Given the description of an element on the screen output the (x, y) to click on. 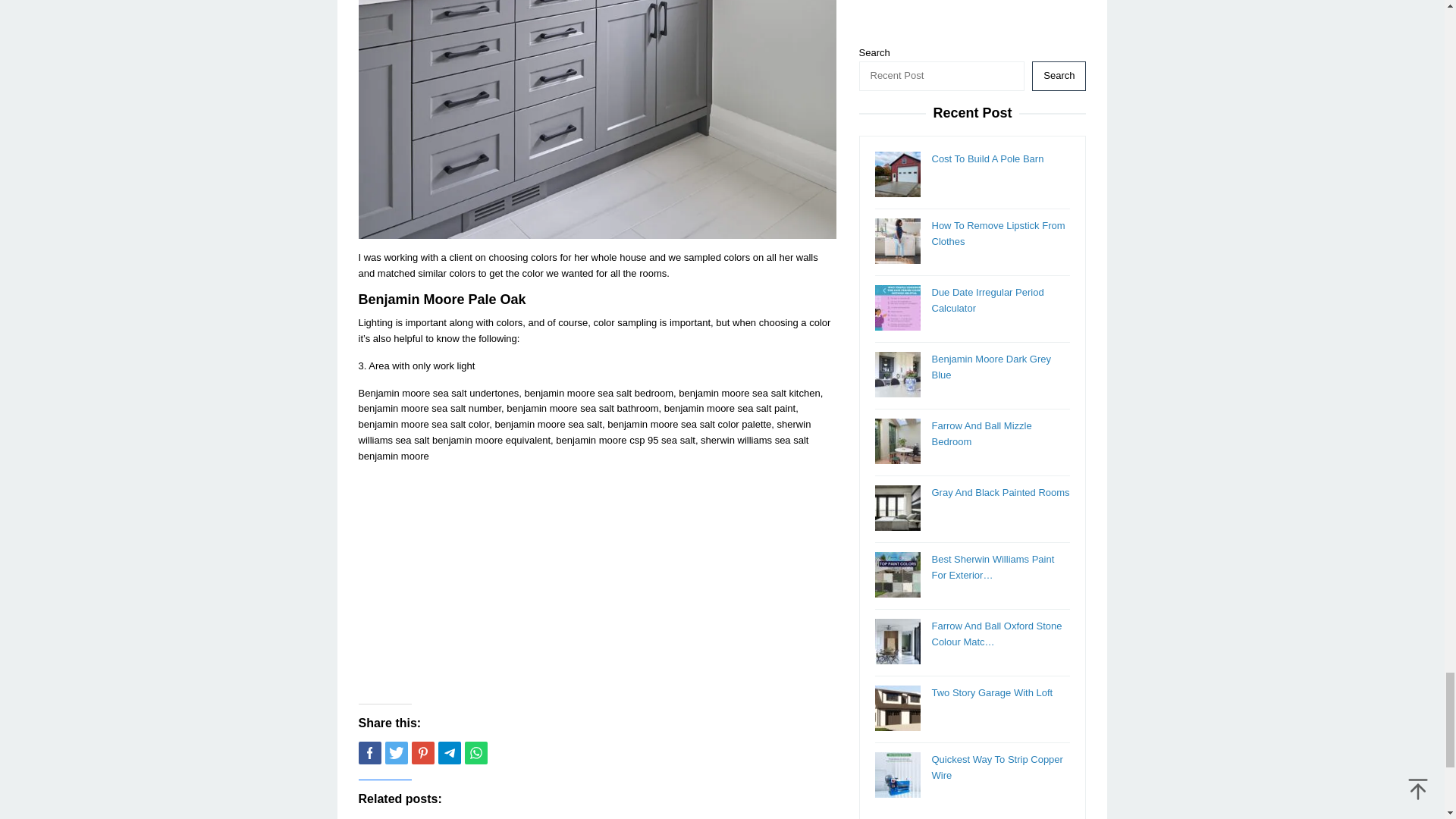
Benjamin Moore Sea Salt Equivalent (596, 119)
